Given the description of an element on the screen output the (x, y) to click on. 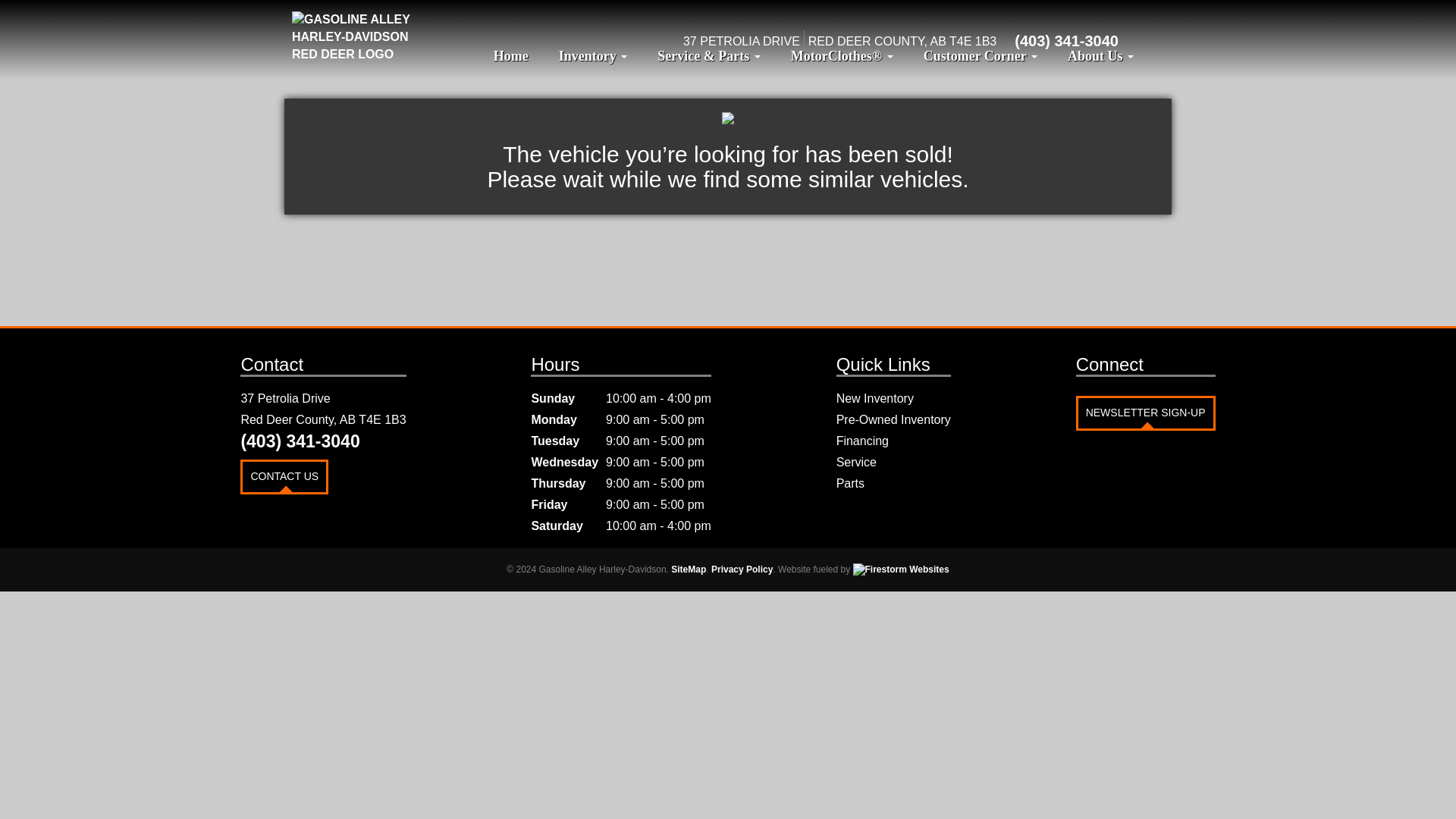
About Us (1100, 55)
Home (511, 55)
Follow us on Instagram (1144, 41)
Visit us on Facebook (1137, 41)
Home (511, 55)
Inventory (593, 55)
37 PETROLIA DRIVERED DEER COUNTY, AB T4E 1B3 (838, 41)
Inventory (593, 55)
Customer Corner (980, 55)
See us on YouTube (1159, 41)
Follow us on Twitter (1152, 41)
